Given the description of an element on the screen output the (x, y) to click on. 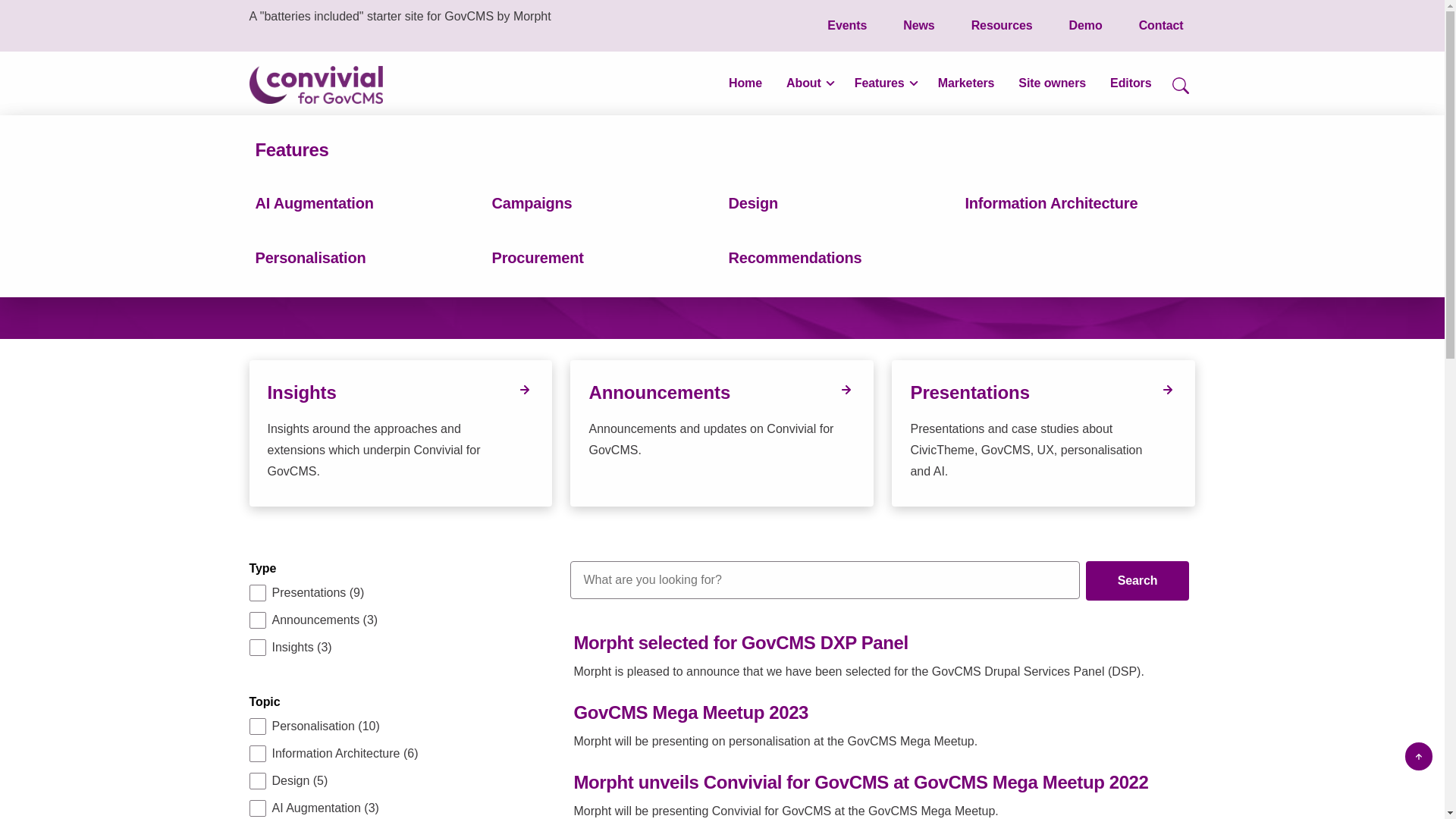
Search (1137, 580)
Features (884, 83)
News (918, 25)
Features (291, 149)
Demo (1086, 25)
Events (847, 25)
Home (745, 83)
News (918, 25)
Resources (1002, 25)
AI Augmentation (313, 203)
Events (847, 25)
A "batteries included" starter site for GovCMS  by Morpht (315, 85)
Contact (1160, 25)
Getting started (307, 203)
